Given the description of an element on the screen output the (x, y) to click on. 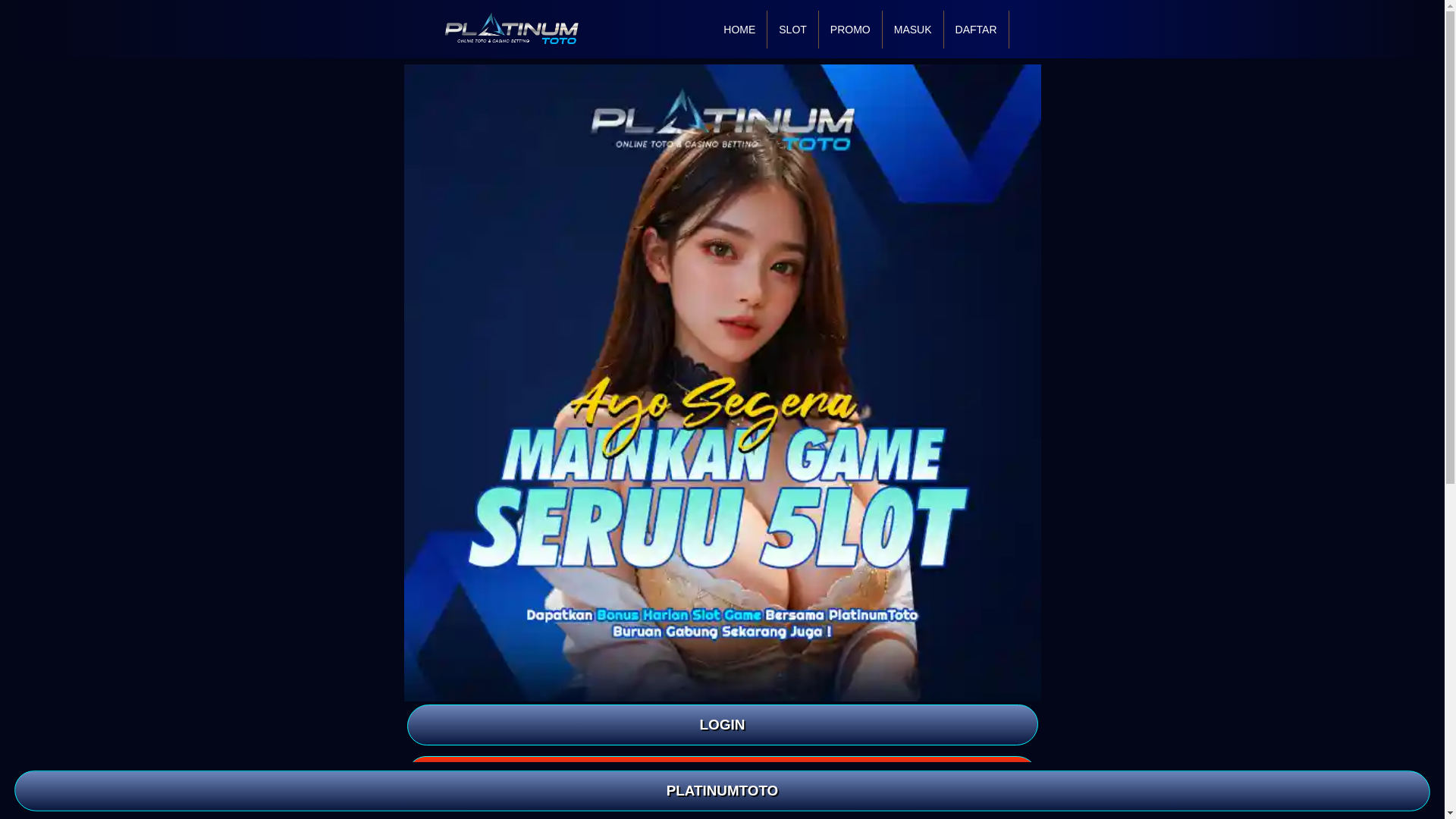
HOME (739, 29)
MASUK (912, 29)
DAFTAR (976, 29)
PROMO (850, 29)
PLATINUMTOTO (722, 790)
SLOT (792, 29)
LOGIN (721, 724)
DAFTAR (721, 775)
